Given the description of an element on the screen output the (x, y) to click on. 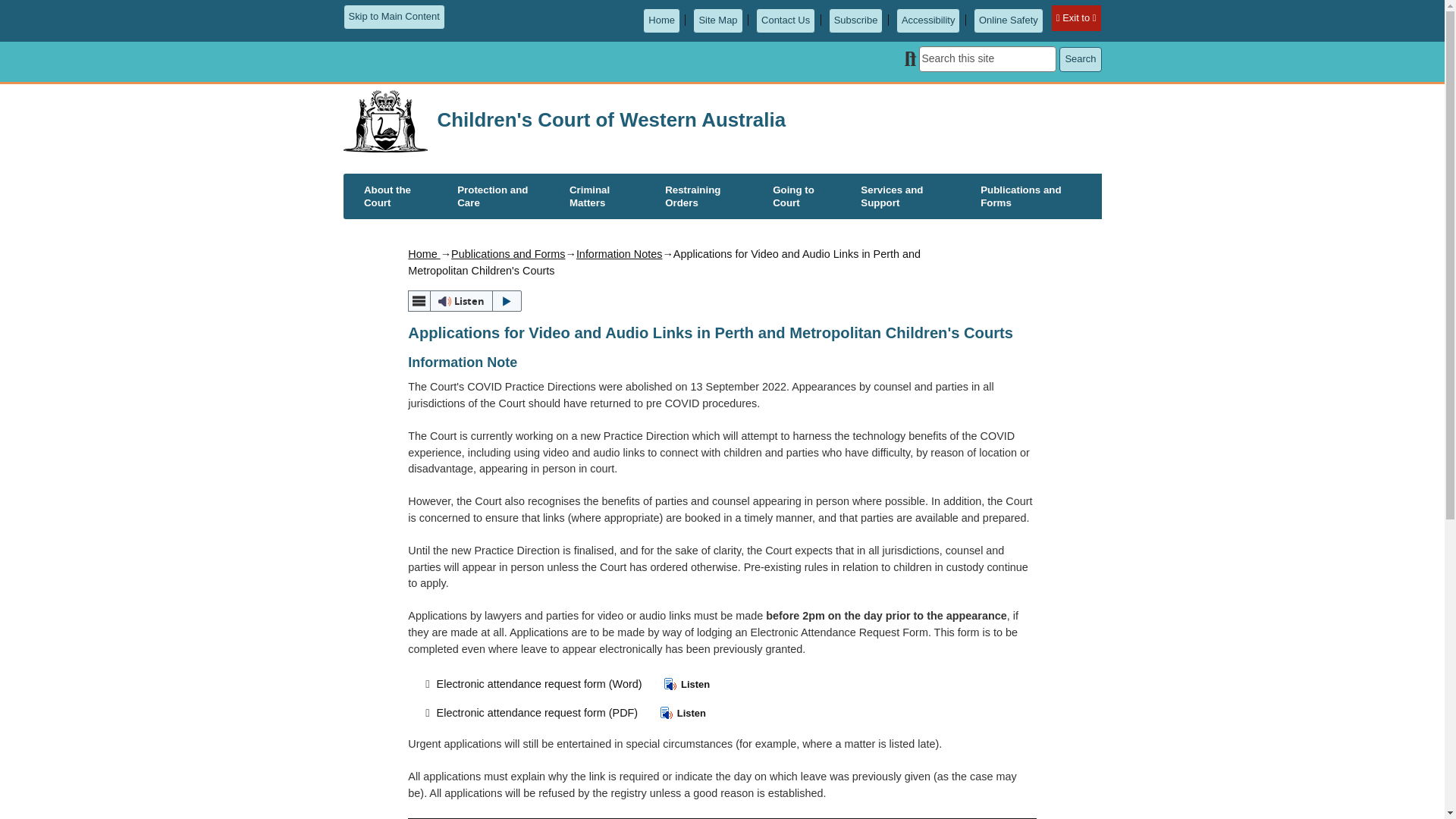
Skip to Main Content (393, 16)
webReader menu (418, 300)
Open this document with ReadSpeaker docReader (679, 684)
Criminal Matters (607, 196)
About the Court (399, 196)
Site Map (717, 20)
Search (1079, 59)
Online Safety (1008, 20)
Protection and Care (502, 196)
Search term (987, 58)
